Given the description of an element on the screen output the (x, y) to click on. 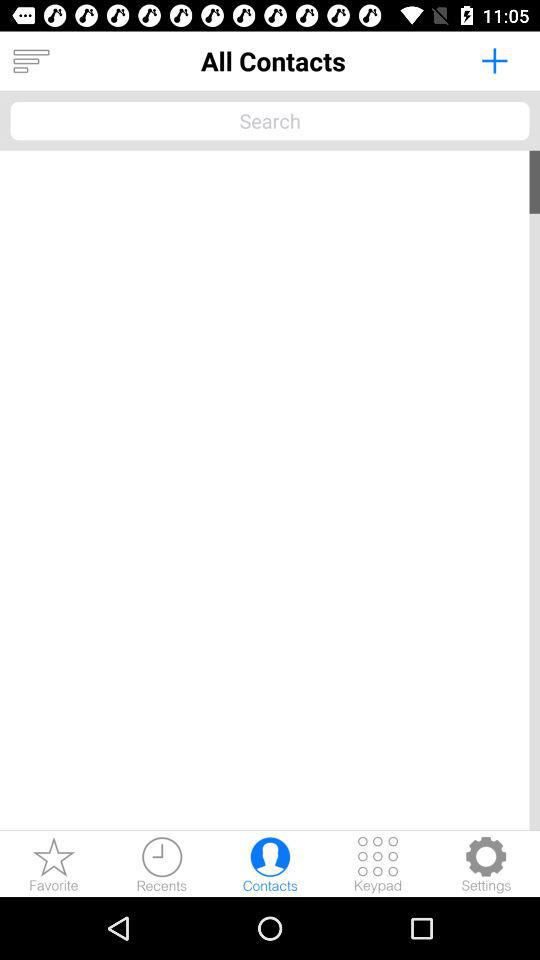
turn on the item to the left of all contacts icon (31, 61)
